Given the description of an element on the screen output the (x, y) to click on. 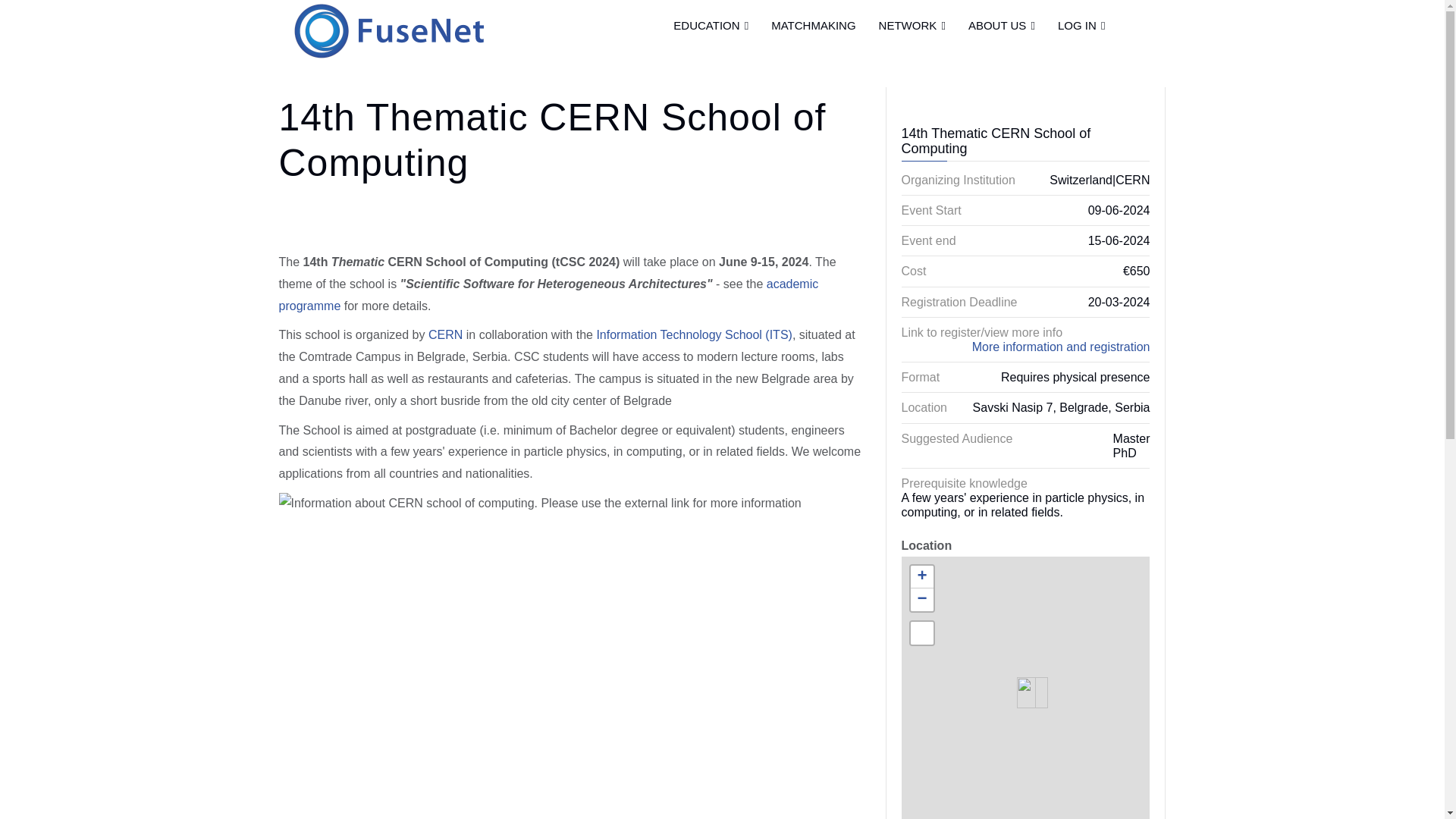
CERN (445, 334)
More information and registration (1061, 346)
View Fullscreen (921, 632)
Home (388, 22)
ABOUT US (1001, 25)
Preview (37, 17)
EDUCATION (711, 25)
LOG IN (1081, 25)
Zoom in (921, 576)
academic programme (548, 294)
Zoom out (921, 599)
NETWORK (911, 25)
MATCHMAKING (813, 25)
